Given the description of an element on the screen output the (x, y) to click on. 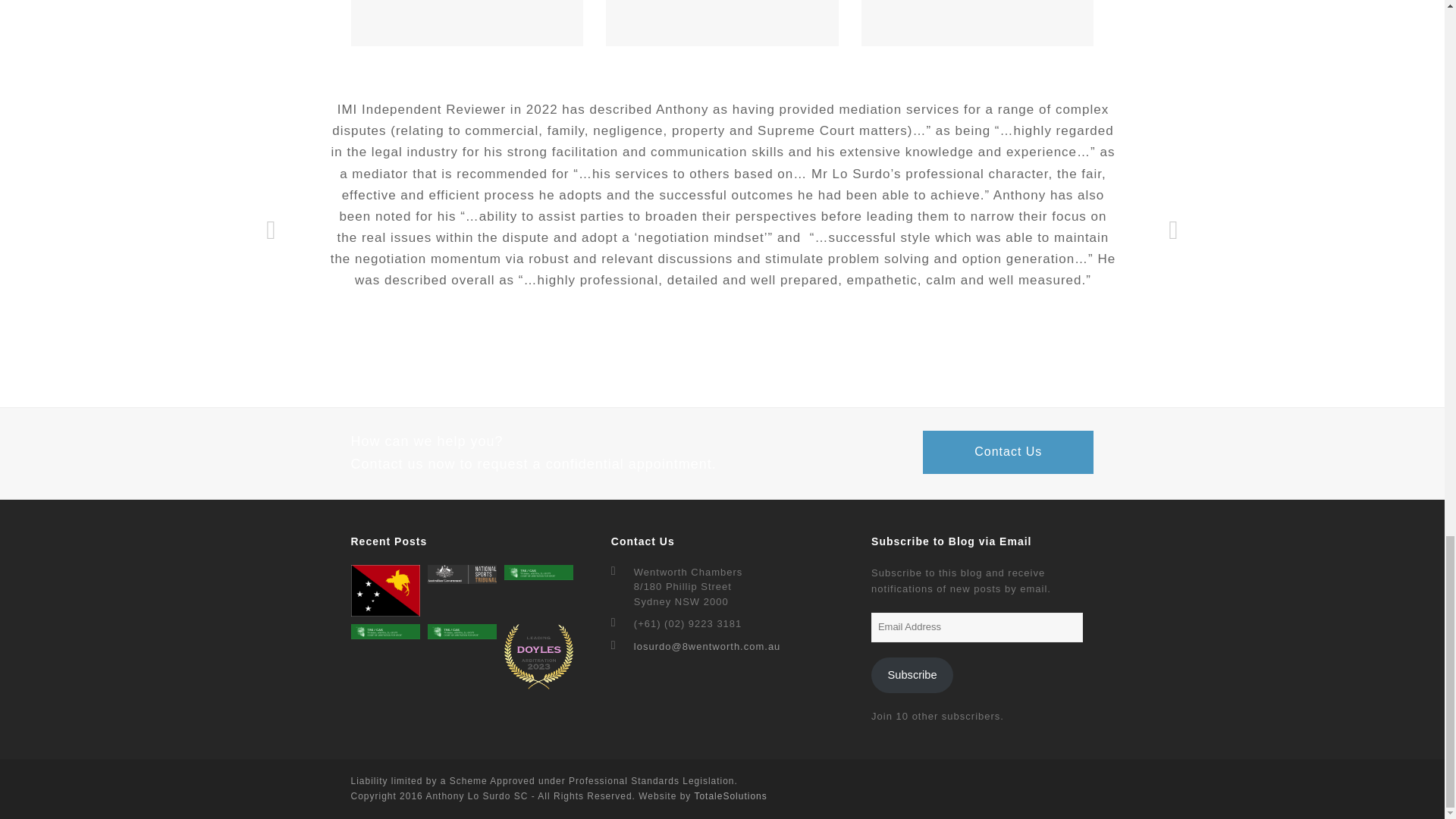
Email Us (706, 645)
Contact Us (1008, 451)
CAS Conference, Geneva 2023 (538, 572)
Contact Us (1008, 451)
